Given the description of an element on the screen output the (x, y) to click on. 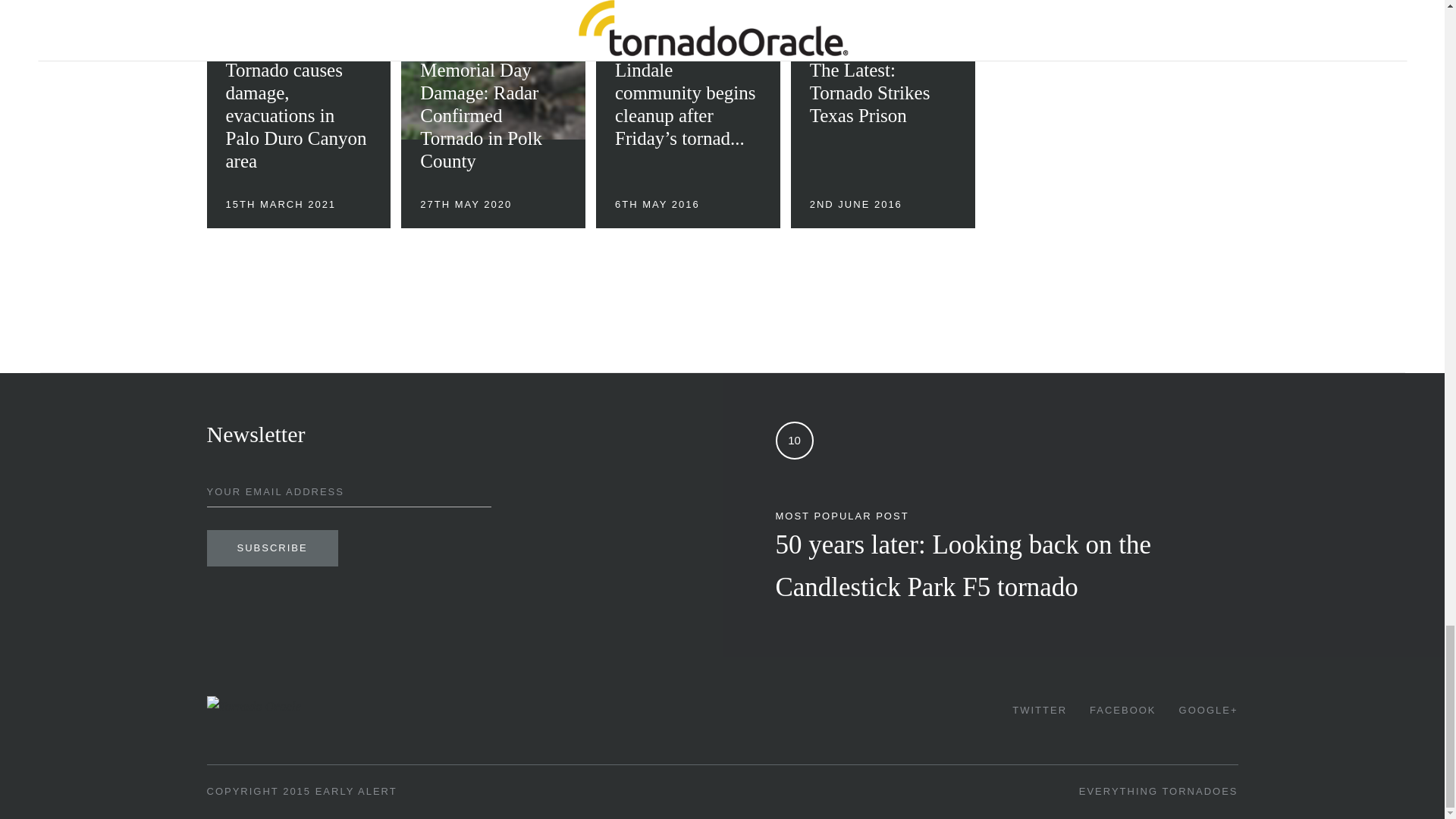
Subscribe (271, 547)
